Given the description of an element on the screen output the (x, y) to click on. 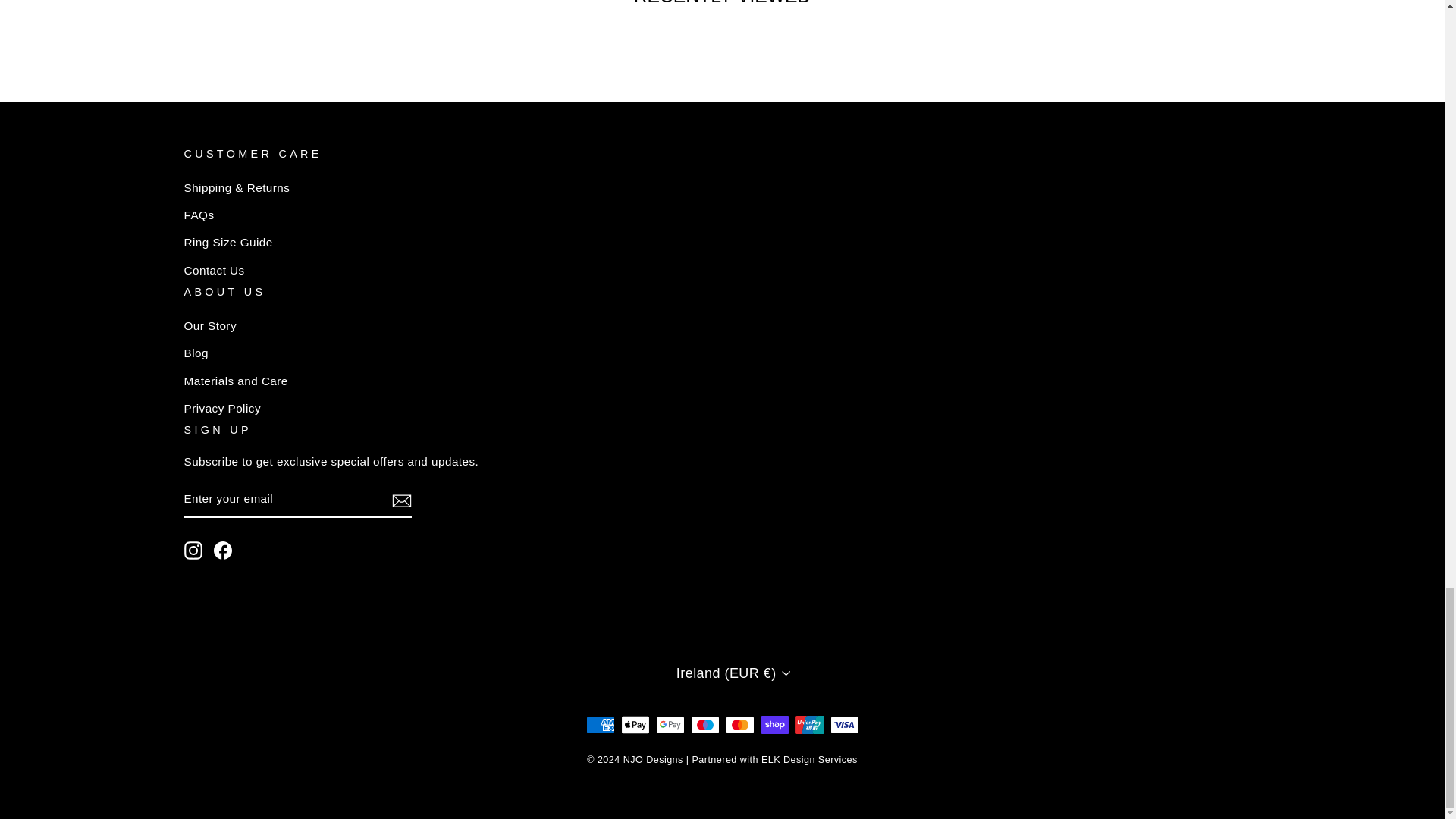
NJODesigns on Facebook (222, 549)
instagram (192, 549)
American Express (599, 724)
Apple Pay (634, 724)
NJODesigns on Instagram (192, 549)
icon-email (400, 500)
